Given the description of an element on the screen output the (x, y) to click on. 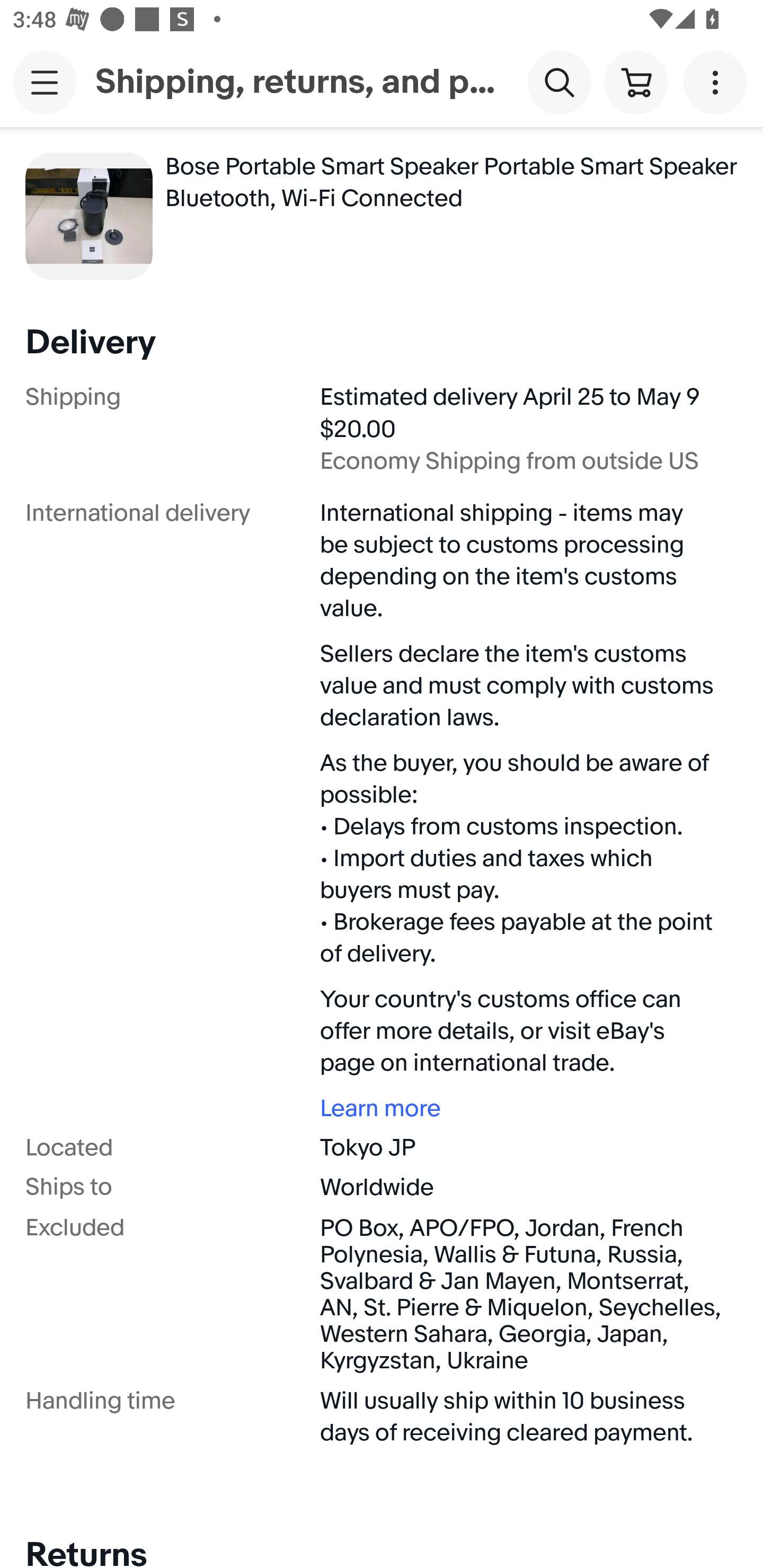
Main navigation, open (44, 82)
Search (559, 81)
Cart button shopping cart (635, 81)
More options (718, 81)
Learn more Learn more - international delivery (521, 1107)
